Given the description of an element on the screen output the (x, y) to click on. 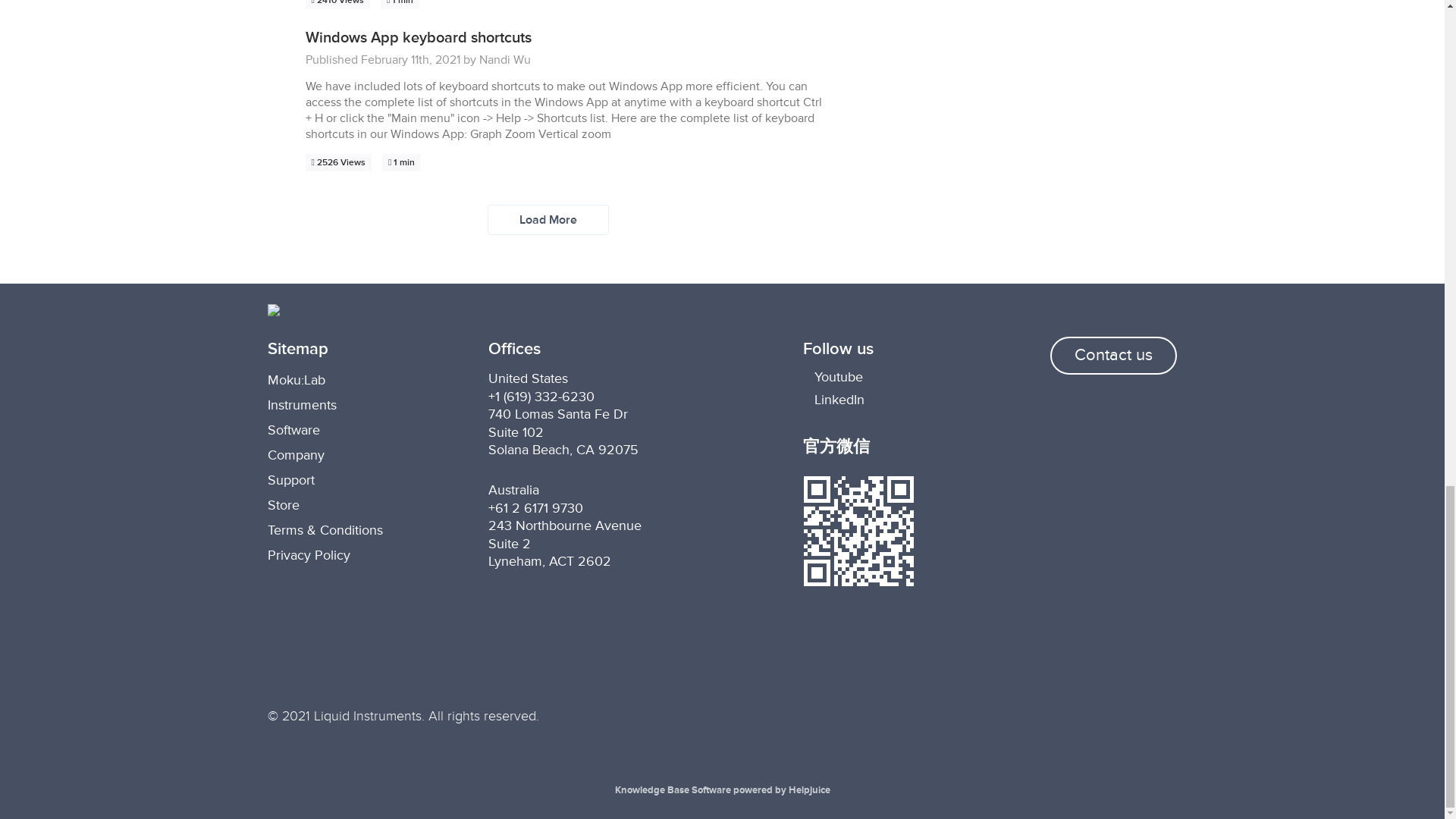
Windows App keyboard shortcuts (417, 37)
Store (282, 504)
Moku:Lab (295, 379)
Support (290, 479)
Youtube (903, 377)
Privacy Policy (307, 555)
Nandi Wu (505, 59)
Software (292, 429)
Contact us (1112, 355)
Instruments (301, 404)
Company (294, 454)
LinkedIn (903, 399)
